Given the description of an element on the screen output the (x, y) to click on. 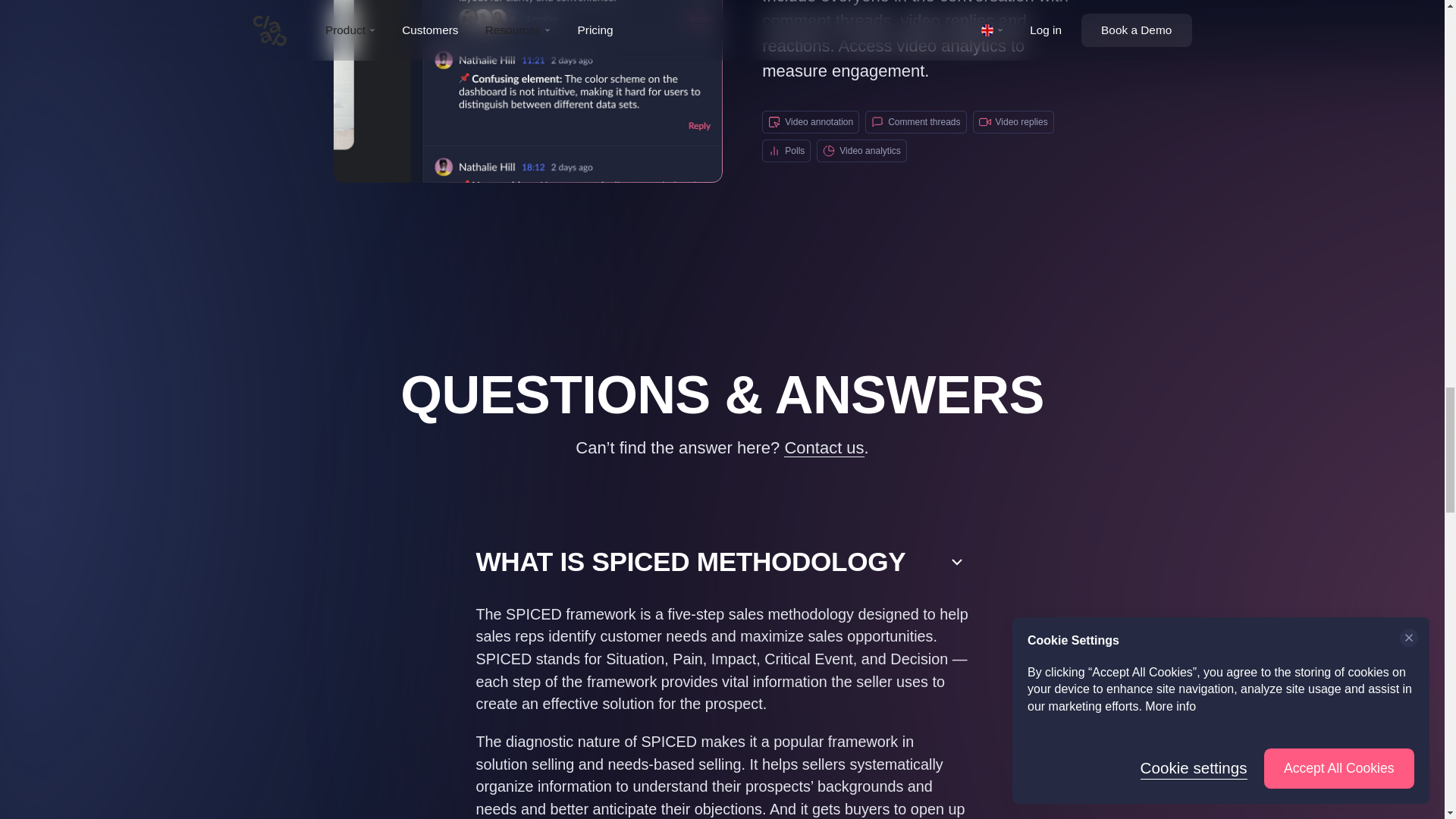
WHAT IS SPICED METHODOLOGY (722, 561)
Contact us (823, 447)
